Given the description of an element on the screen output the (x, y) to click on. 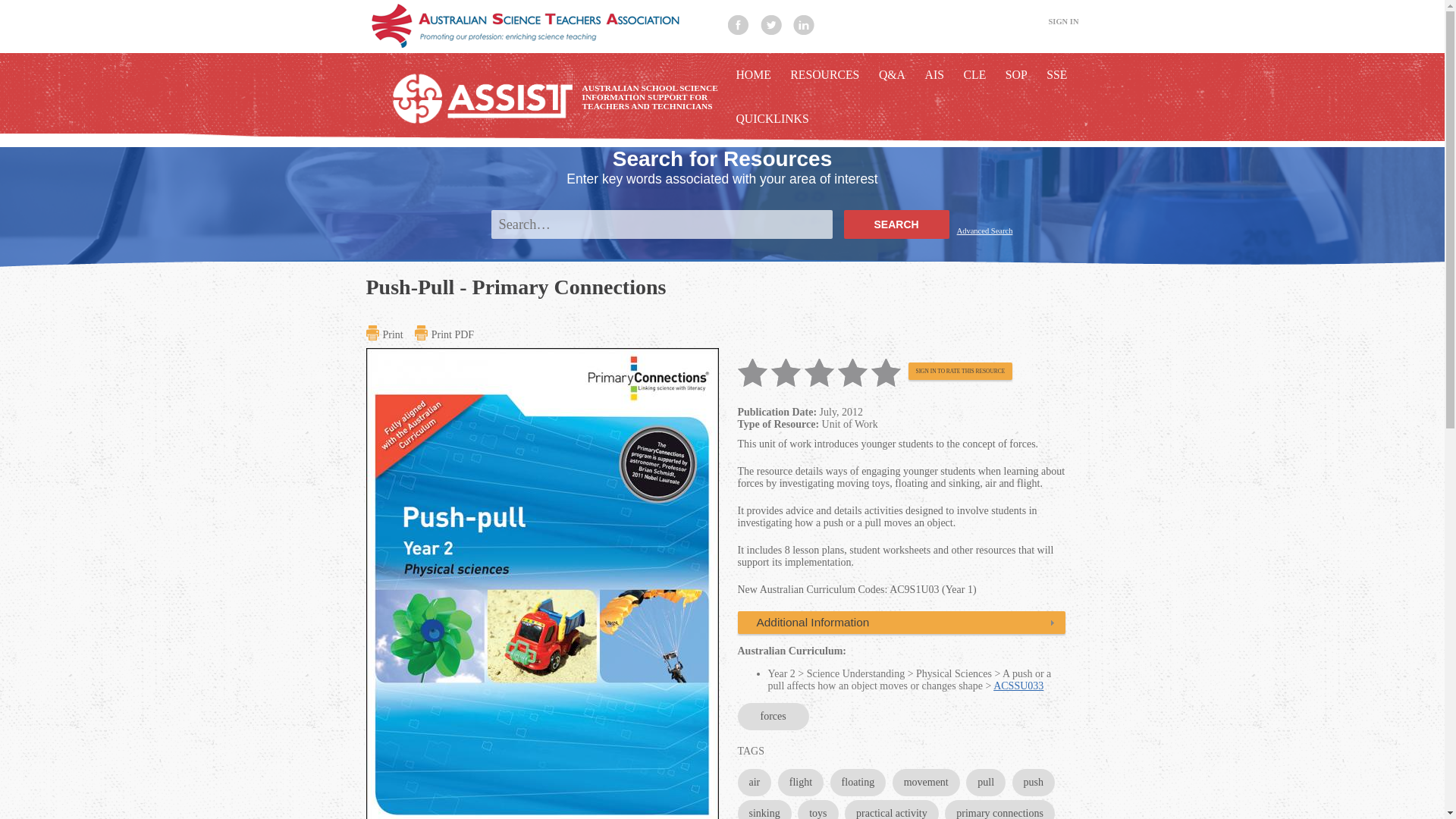
Twitter (770, 25)
HOME (752, 75)
air (753, 782)
forces (772, 716)
ASSIST (540, 27)
Like Science ASSIST on Facebook (738, 25)
Linkedin (803, 25)
toys (817, 809)
RESOURCES (824, 75)
push (1032, 782)
Advanced Search (984, 235)
SIGN IN (1063, 21)
pull (986, 782)
